Given the description of an element on the screen output the (x, y) to click on. 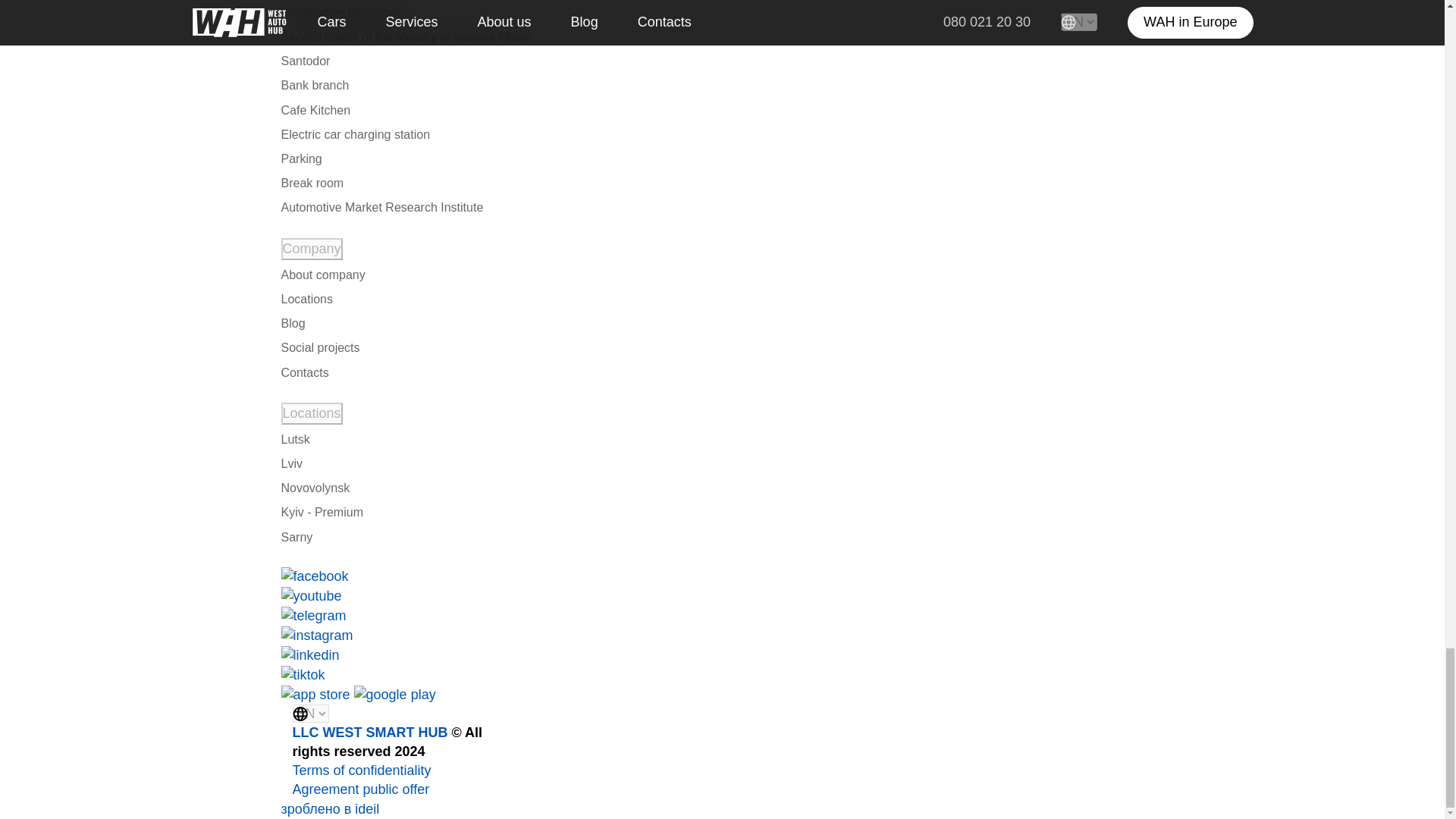
Certification laboratory (342, 12)
